Given the description of an element on the screen output the (x, y) to click on. 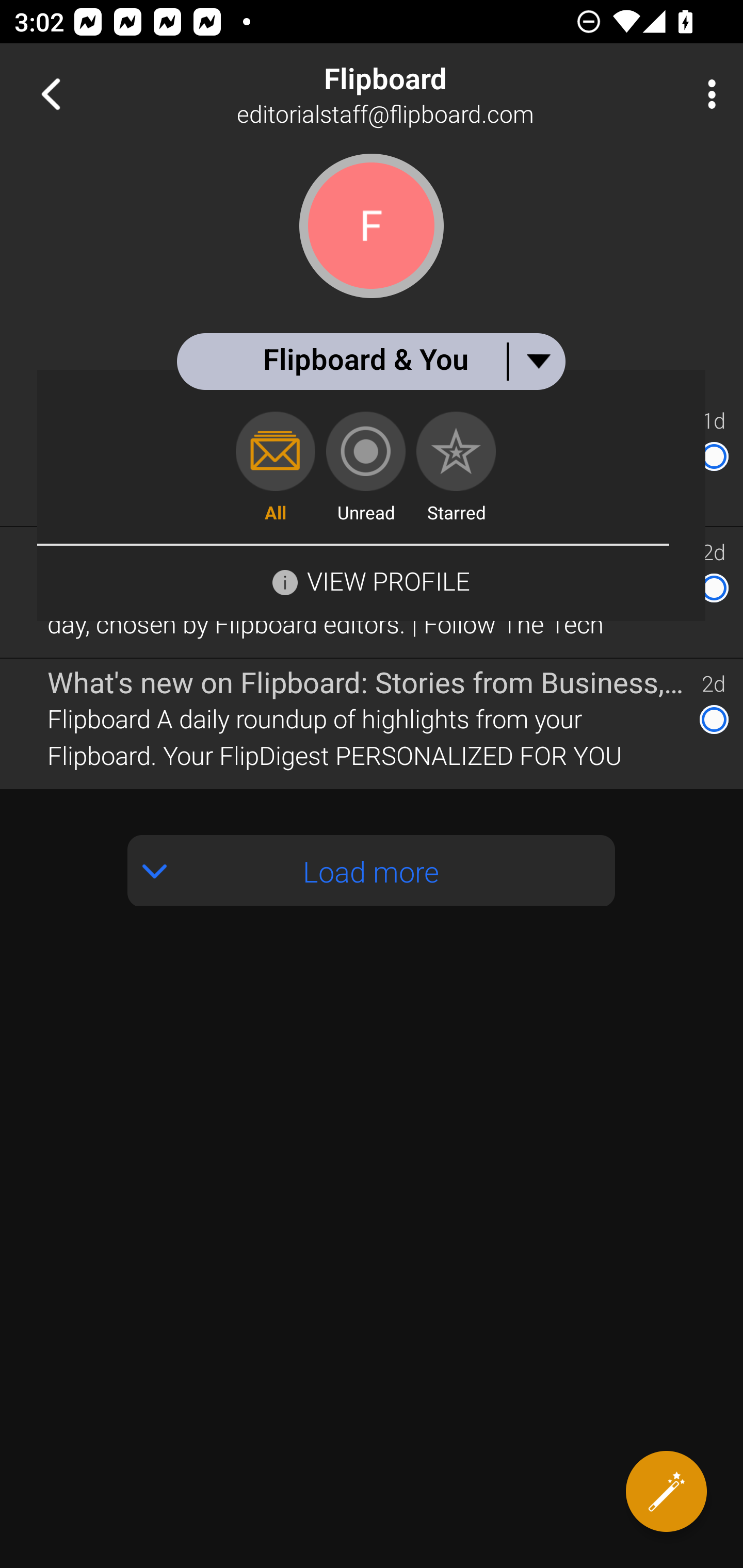
VIEW PROFILE (371, 580)
VIEW PROFILE (388, 580)
